Given the description of an element on the screen output the (x, y) to click on. 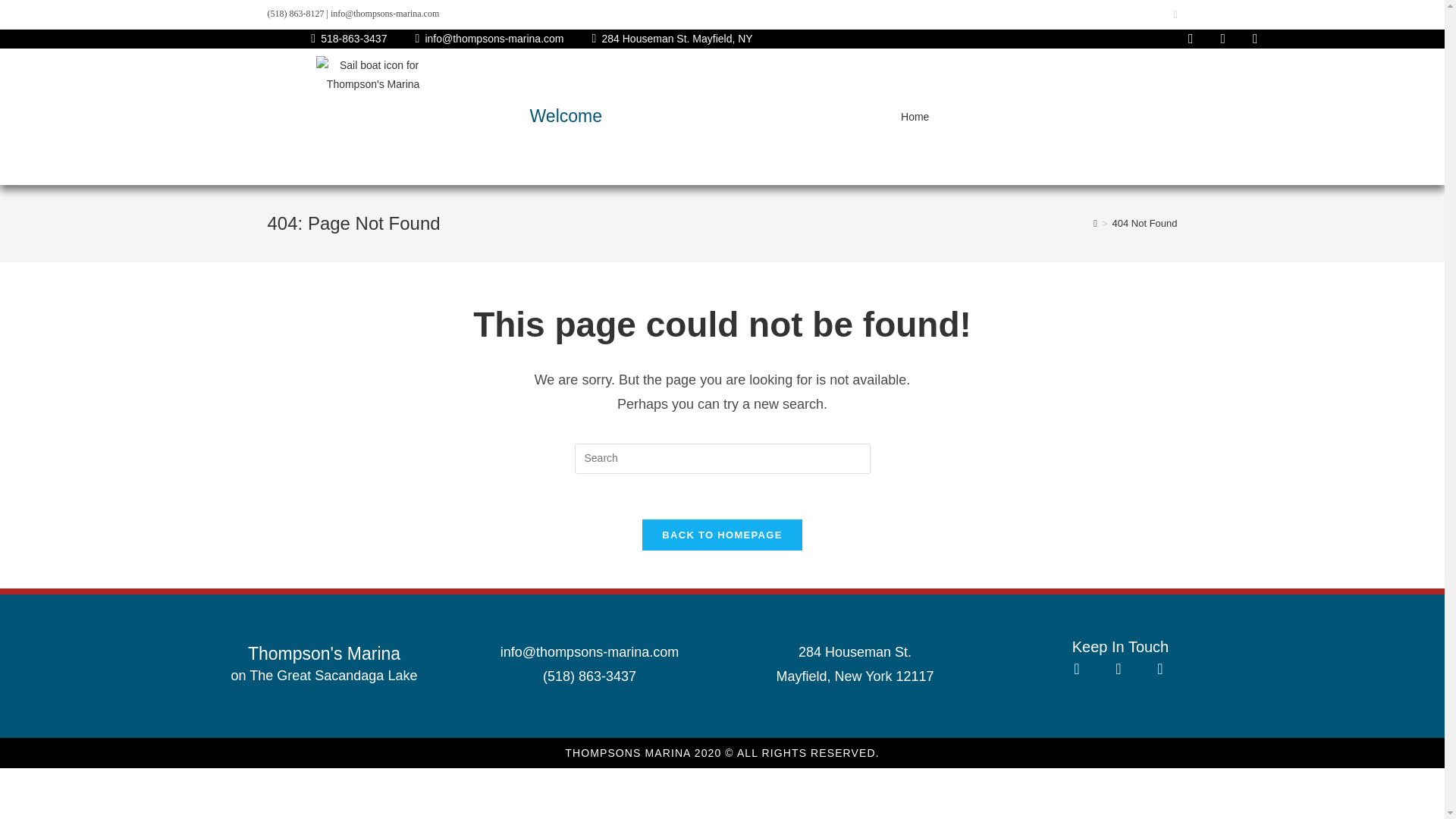
284 Houseman St. Mayfield, NY (669, 38)
BACK TO HOMEPAGE (722, 534)
404 Not Found (1144, 223)
Home (914, 116)
